Given the description of an element on the screen output the (x, y) to click on. 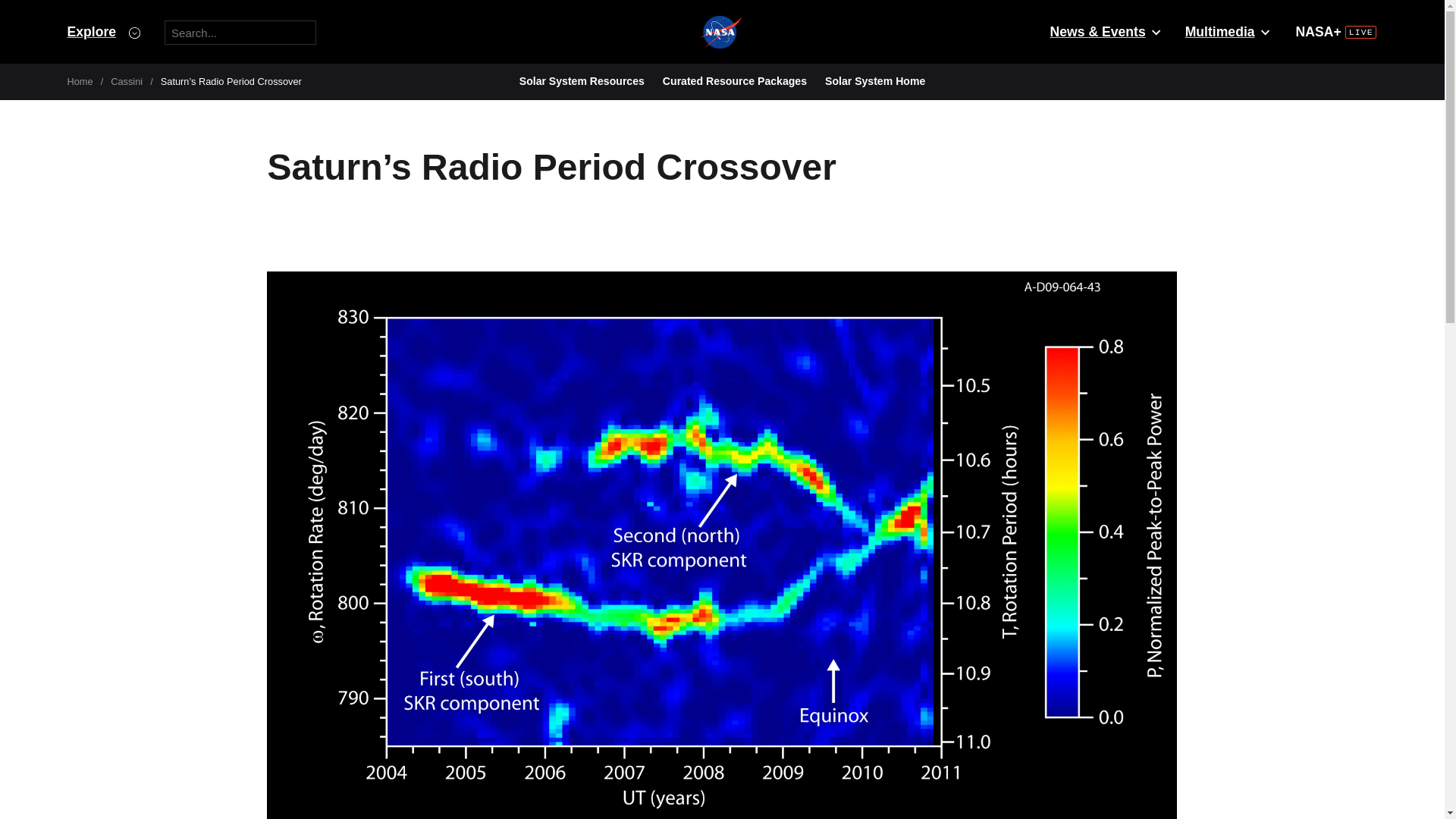
Cassini (126, 81)
Home (79, 81)
